Given the description of an element on the screen output the (x, y) to click on. 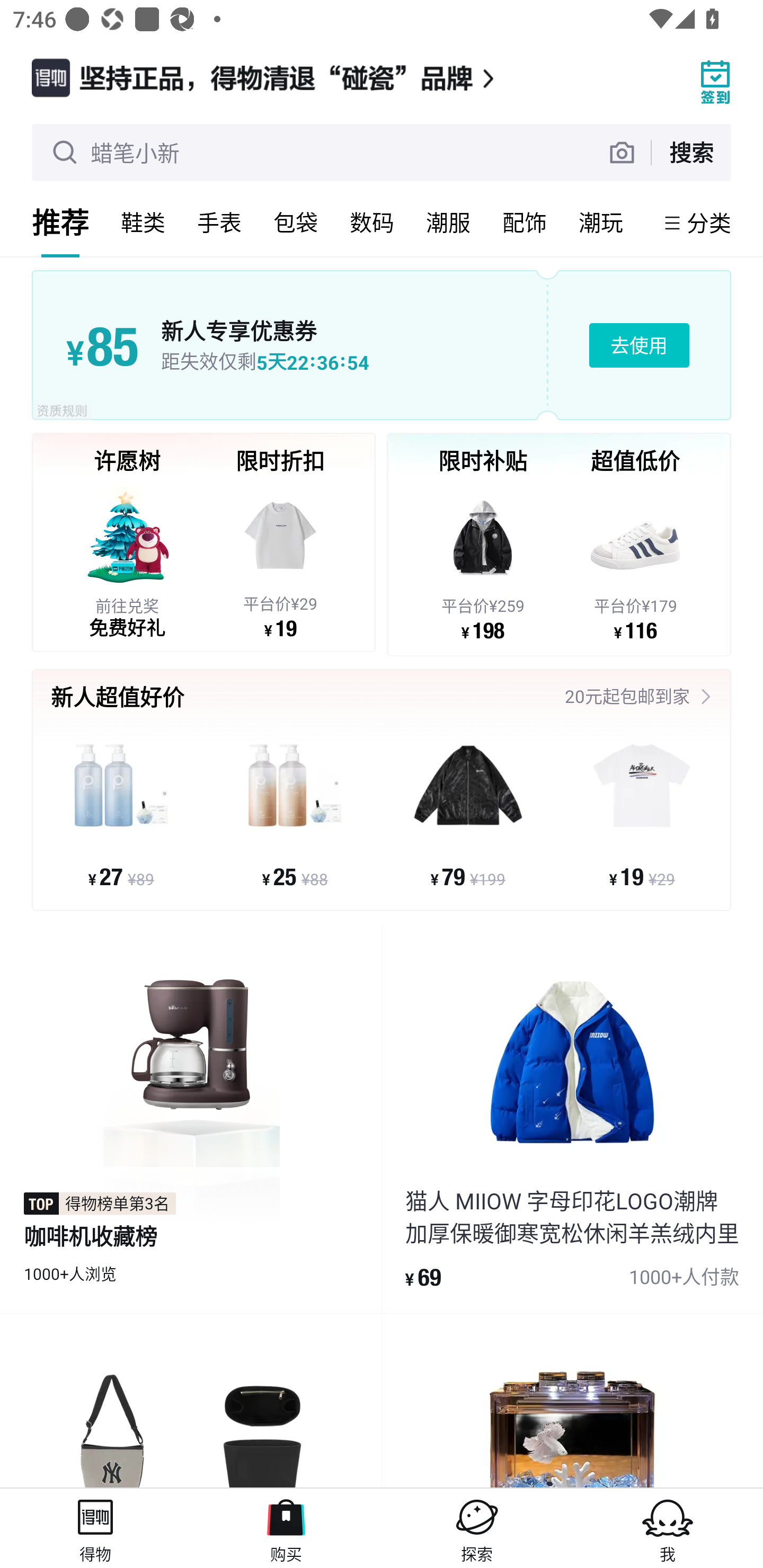
搜索 (690, 152)
推荐 (60, 222)
鞋类 (143, 222)
手表 (219, 222)
包袋 (295, 222)
数码 (372, 222)
潮服 (448, 222)
配饰 (524, 222)
潮玩 (601, 222)
分类 (708, 222)
平台价¥29 ¥ 19 (279, 559)
前往兑奖 免费好礼 (127, 559)
平台价¥259 ¥ 198 (482, 560)
平台价¥179 ¥ 116 (635, 560)
¥ 27 ¥89 (121, 813)
¥ 25 ¥88 (294, 813)
¥ 79 ¥199 (468, 813)
¥ 19 ¥29 (641, 813)
得物榜单第3名 咖啡机收藏榜 1000+人浏览 (190, 1118)
product_item (190, 1400)
product_item (572, 1400)
得物 (95, 1528)
购买 (285, 1528)
探索 (476, 1528)
我 (667, 1528)
